Given the description of an element on the screen output the (x, y) to click on. 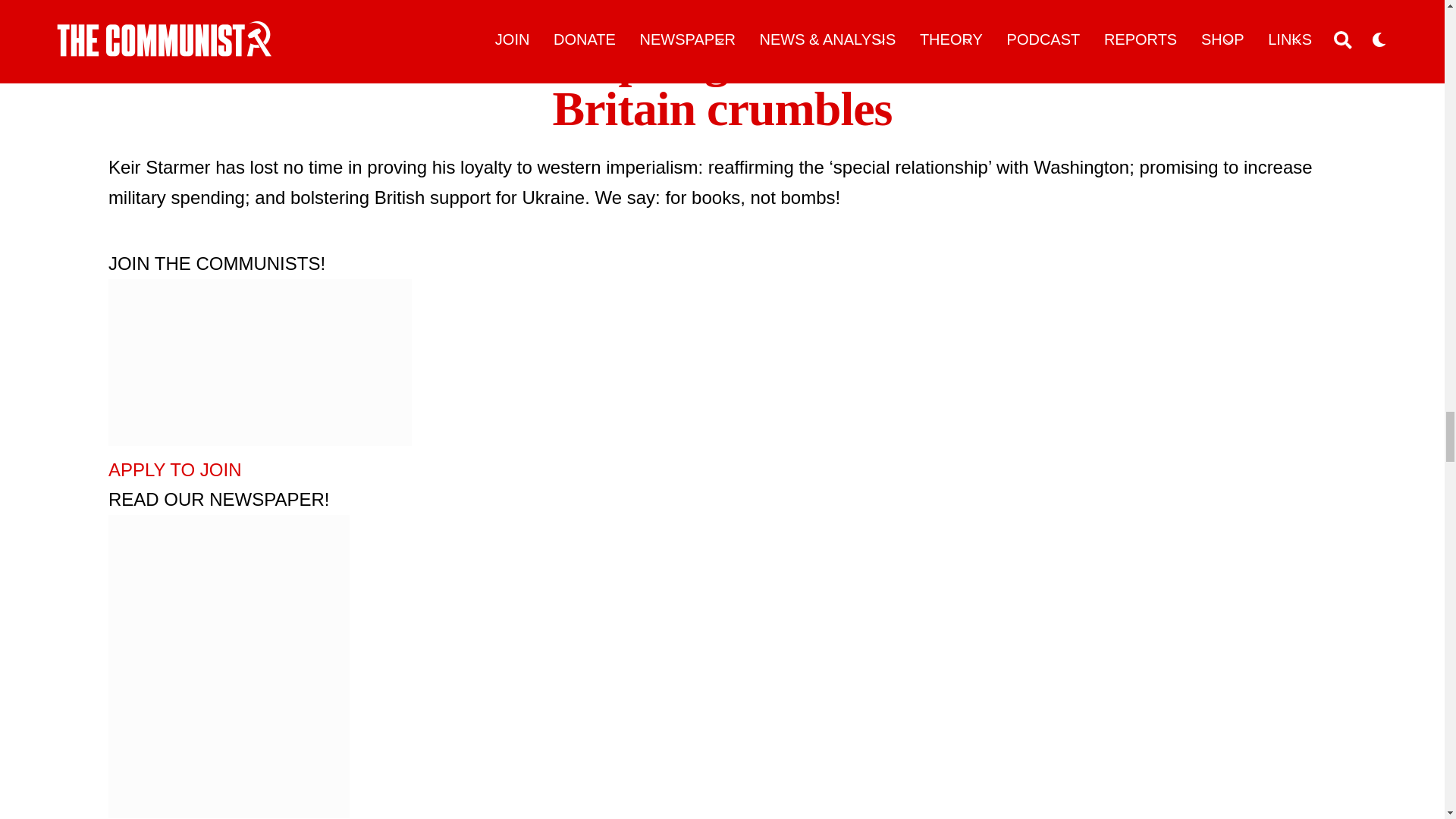
RCP logo with title white red (259, 362)
